Given the description of an element on the screen output the (x, y) to click on. 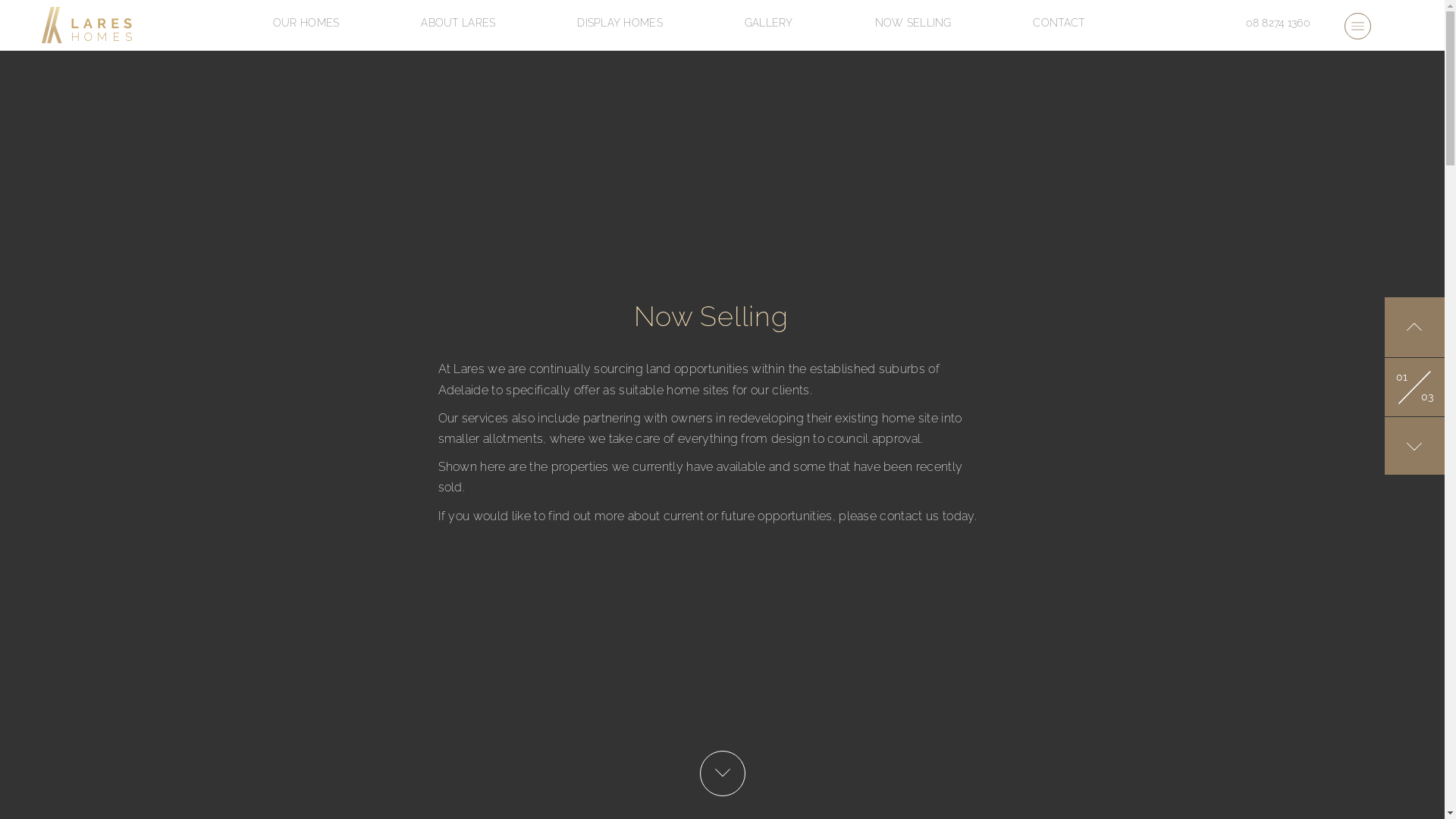
DISPLAY HOMES Element type: text (619, 22)
NOW SELLING Element type: text (913, 22)
OUR HOMES Element type: text (306, 22)
CONTACT Element type: text (1058, 22)
LARES Element type: text (86, 24)
ABOUT LARES Element type: text (457, 22)
contact us Element type: text (908, 515)
08 8274 1360 Element type: text (1277, 22)
GALLERY Element type: text (768, 22)
